Given the description of an element on the screen output the (x, y) to click on. 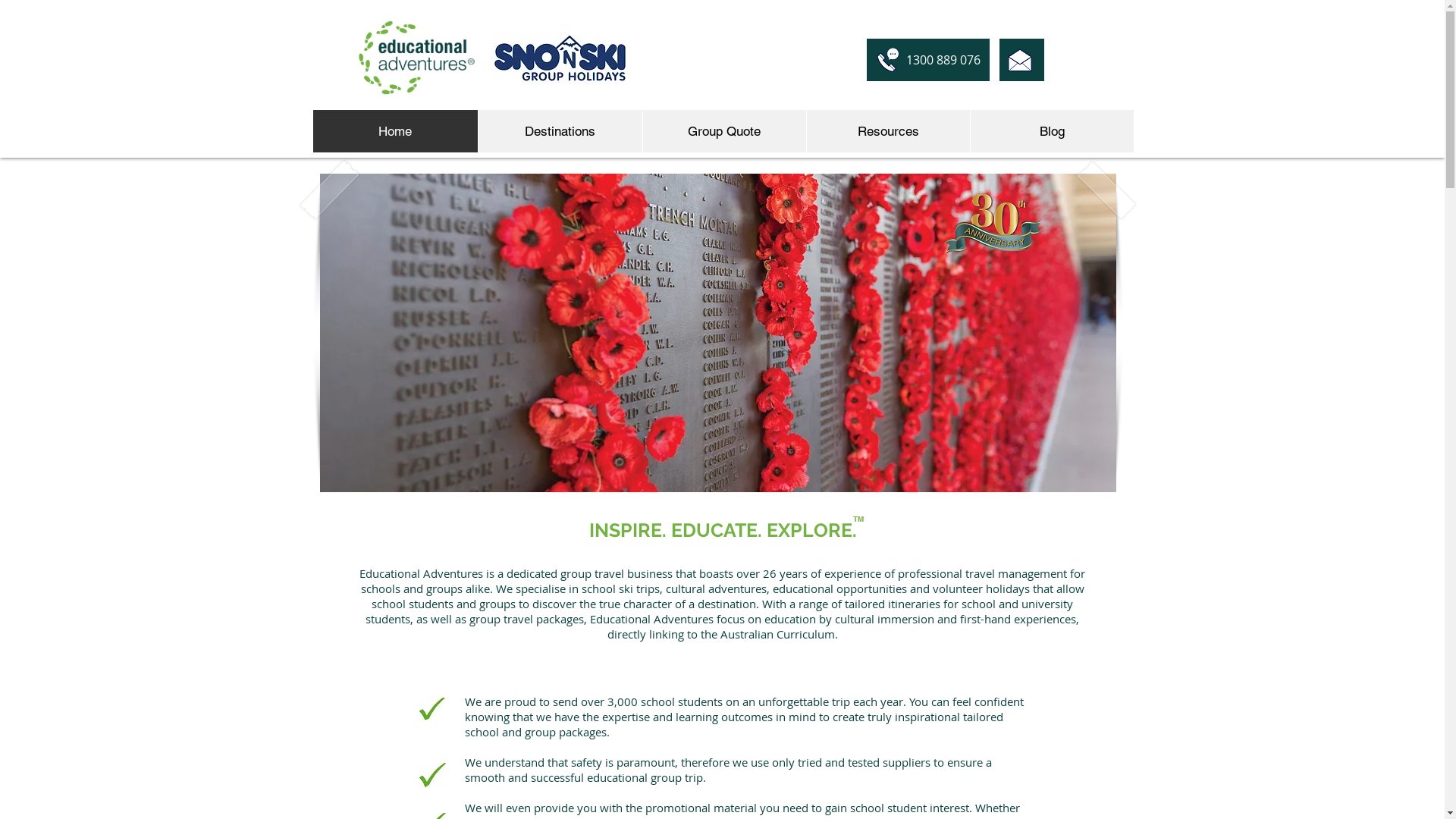
Blog Element type: text (1050, 130)
Home Element type: text (394, 130)
1300 889 076 Element type: text (927, 59)
Group Quote Element type: text (723, 130)
